Given the description of an element on the screen output the (x, y) to click on. 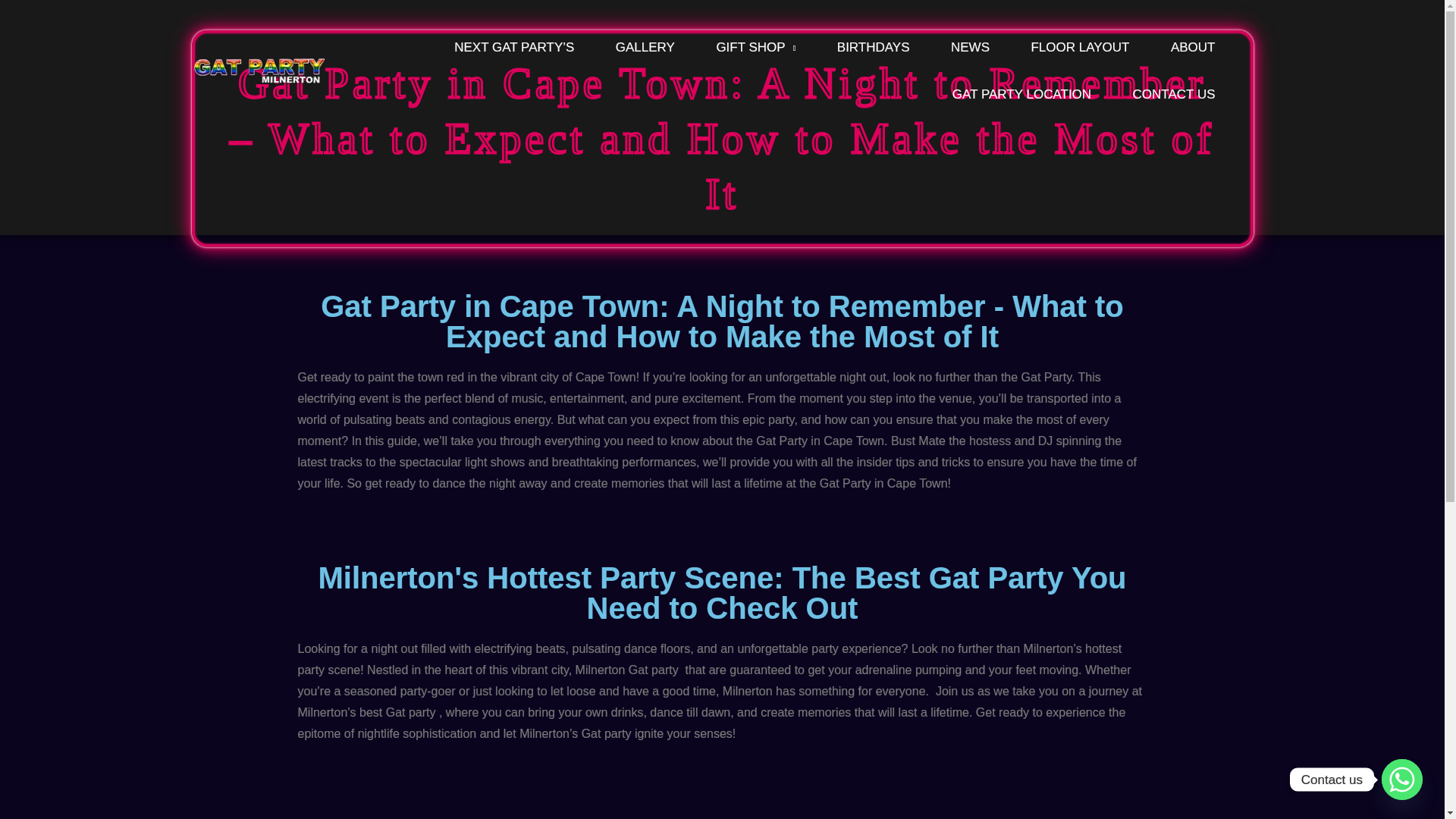
NEWS (970, 47)
BIRTHDAYS (873, 47)
CONTACT US (1173, 93)
ABOUT (1192, 47)
FLOOR LAYOUT (1079, 47)
GALLERY (645, 47)
GAT PARTY LOCATION (1021, 93)
GIFT SHOP (755, 47)
